Given the description of an element on the screen output the (x, y) to click on. 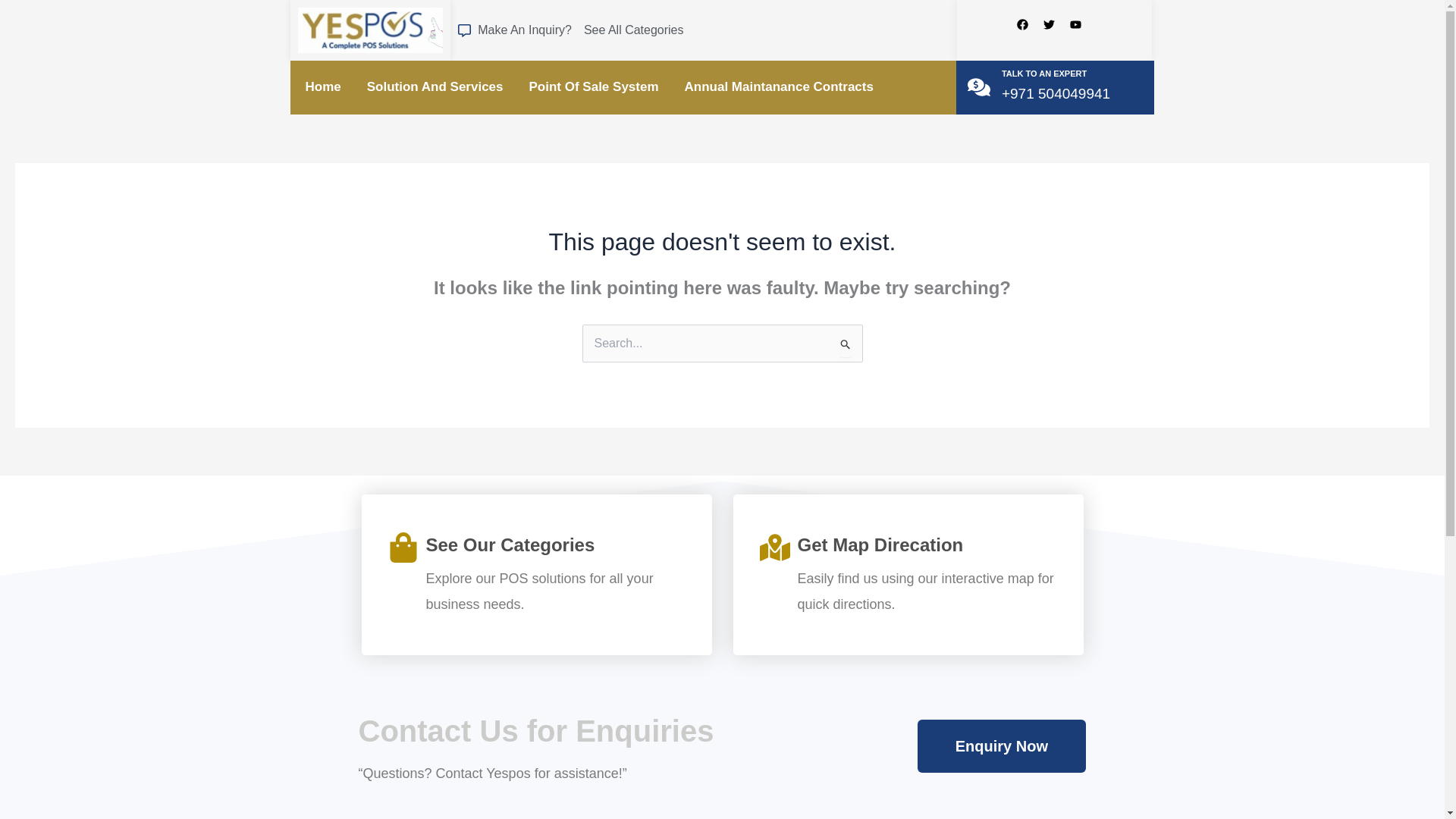
Solution And Services (435, 87)
Youtube (1081, 29)
Annual Maintanance Contracts (778, 87)
Make An Inquiry? (515, 29)
Enquiry Now (1001, 746)
Point Of Sale System (593, 87)
See Our Categories (510, 544)
Twitter (1054, 29)
TALK TO AN EXPERT (1043, 72)
Home (322, 87)
